Given the description of an element on the screen output the (x, y) to click on. 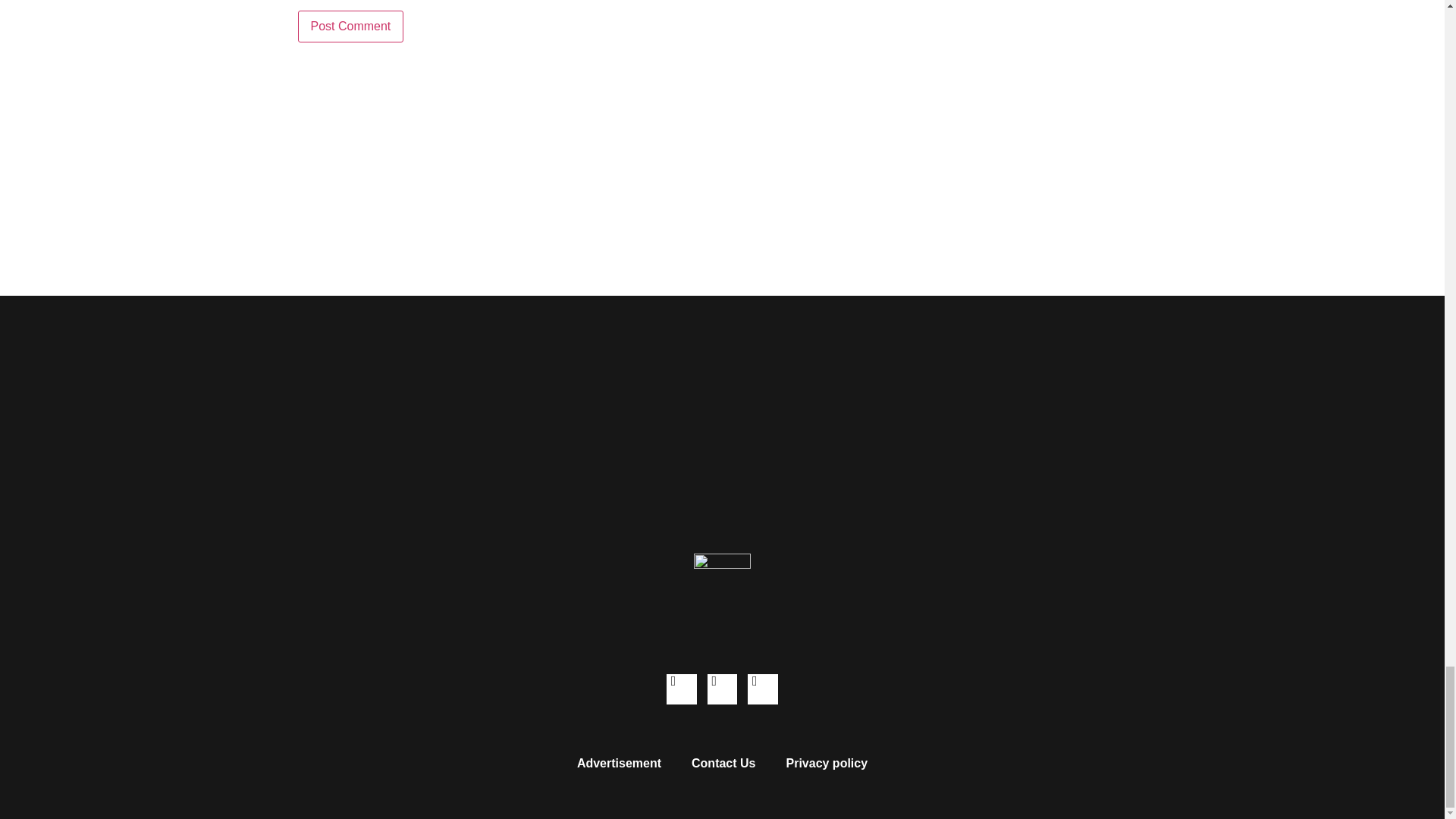
Post Comment (350, 26)
